Given the description of an element on the screen output the (x, y) to click on. 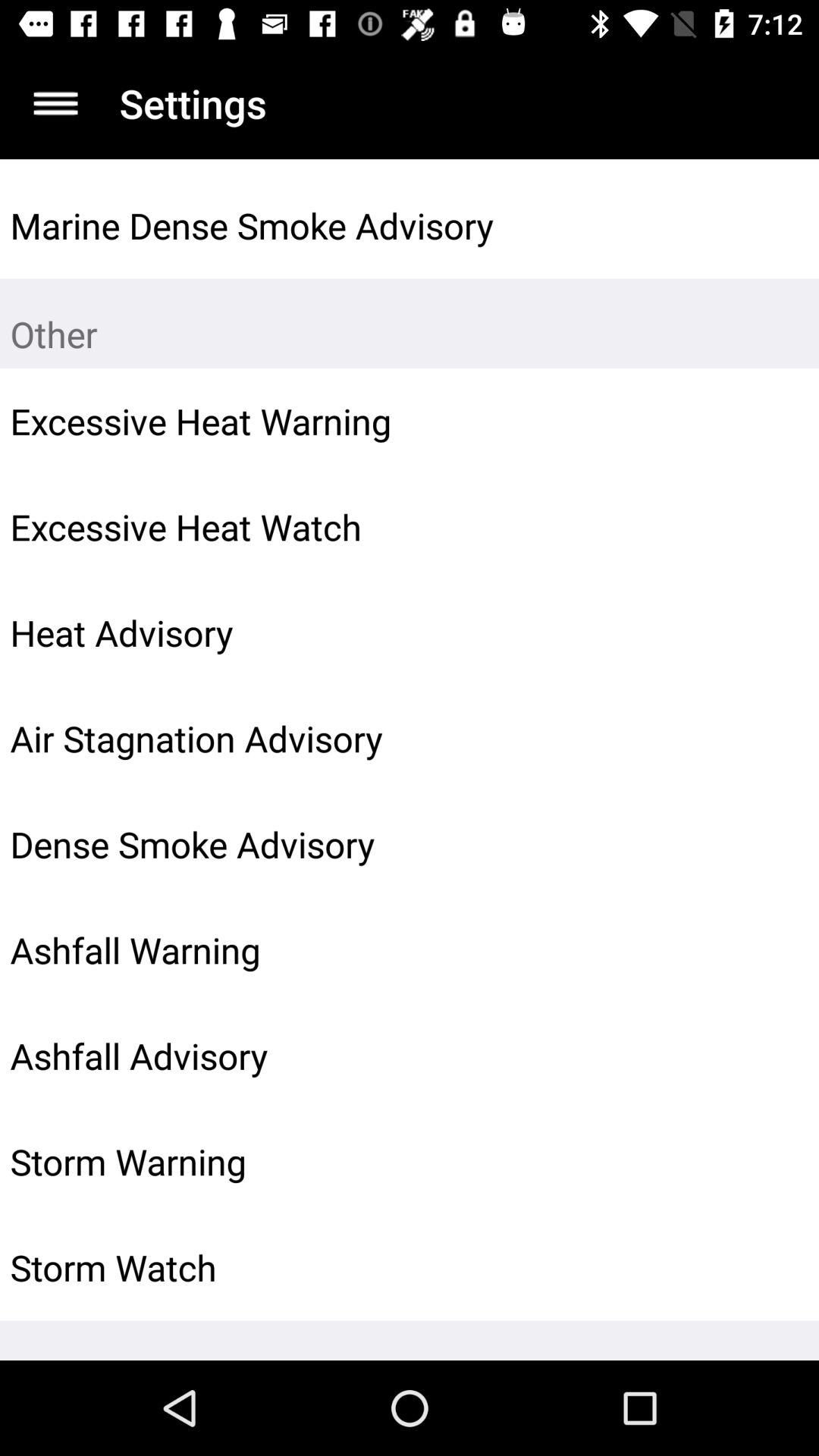
tap icon to the right of dense smoke advisory item (771, 844)
